Given the description of an element on the screen output the (x, y) to click on. 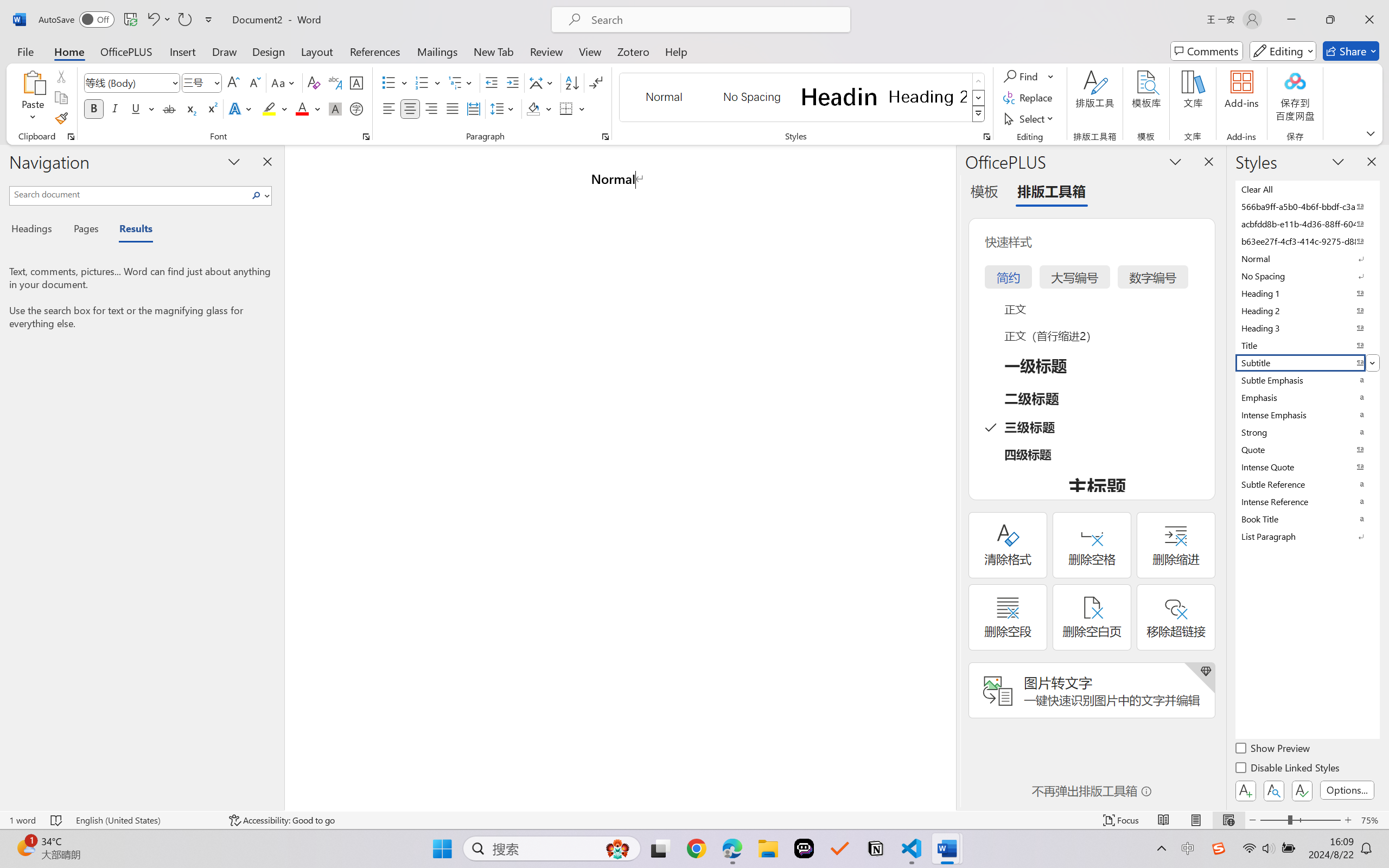
Enclose Characters... (356, 108)
Restore Down (1330, 19)
Mode (1283, 50)
Home (69, 51)
View (589, 51)
Numbering (428, 82)
Distributed (473, 108)
Comments (1206, 50)
Class: NetUIImage (978, 114)
AutomationID: DynamicSearchBoxGleamImage (617, 848)
New Tab (493, 51)
Pages (85, 229)
Asian Layout (542, 82)
